Given the description of an element on the screen output the (x, y) to click on. 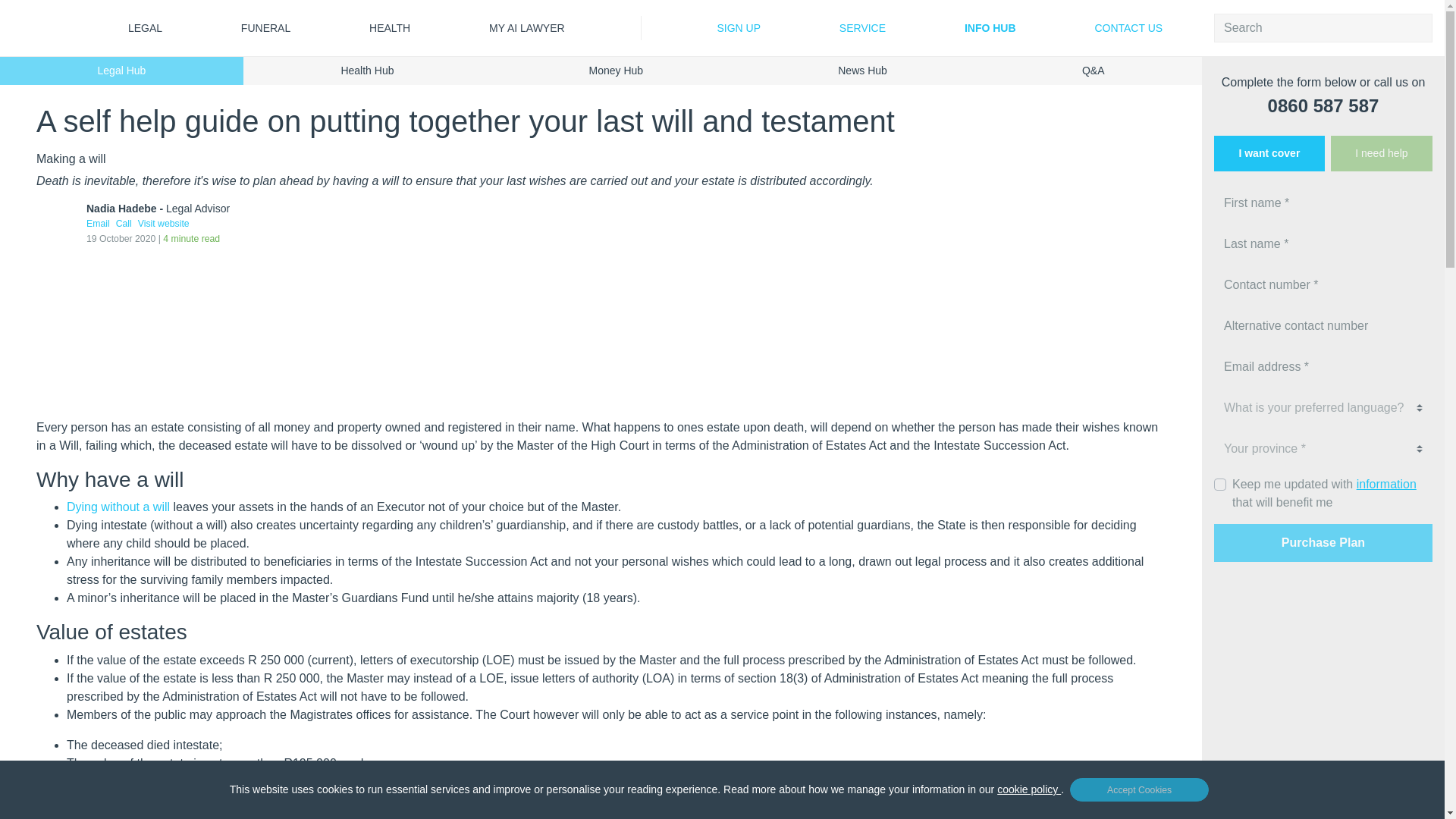
INFO HUB (989, 27)
SERVICE (861, 27)
HEALTH (389, 27)
SIGN UP (738, 27)
MY AI LAWYER (526, 27)
LEGAL (145, 27)
Search (1422, 23)
Learn about our cookie policy (1030, 788)
FUNERAL (266, 27)
